Given the description of an element on the screen output the (x, y) to click on. 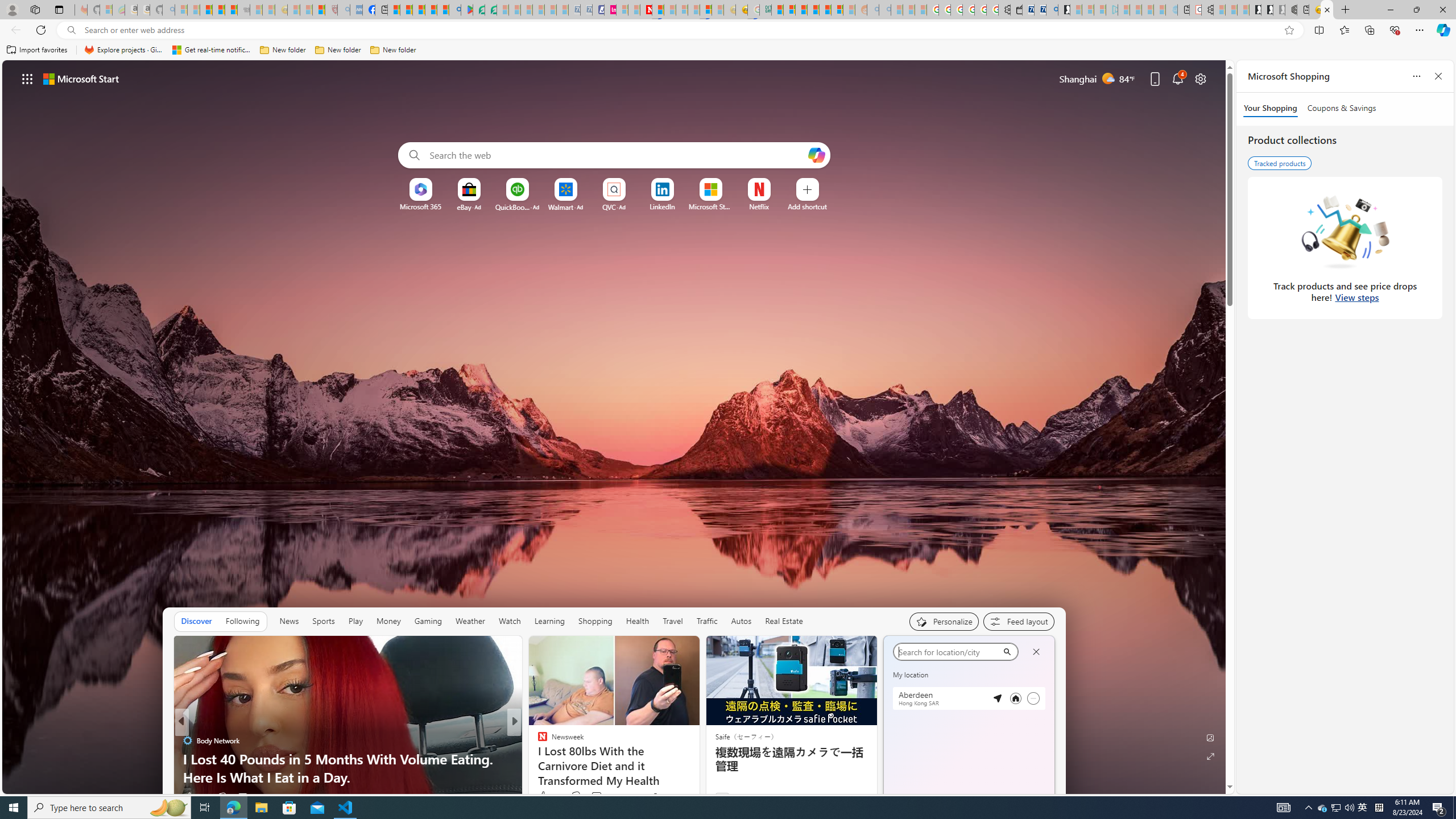
Bing Real Estate - Home sales and rental listings (1051, 9)
Shanghai (909, 649)
15 Anti-Aging Foods to Add to Your Diet (697, 777)
Hourly (909, 703)
